Given the description of an element on the screen output the (x, y) to click on. 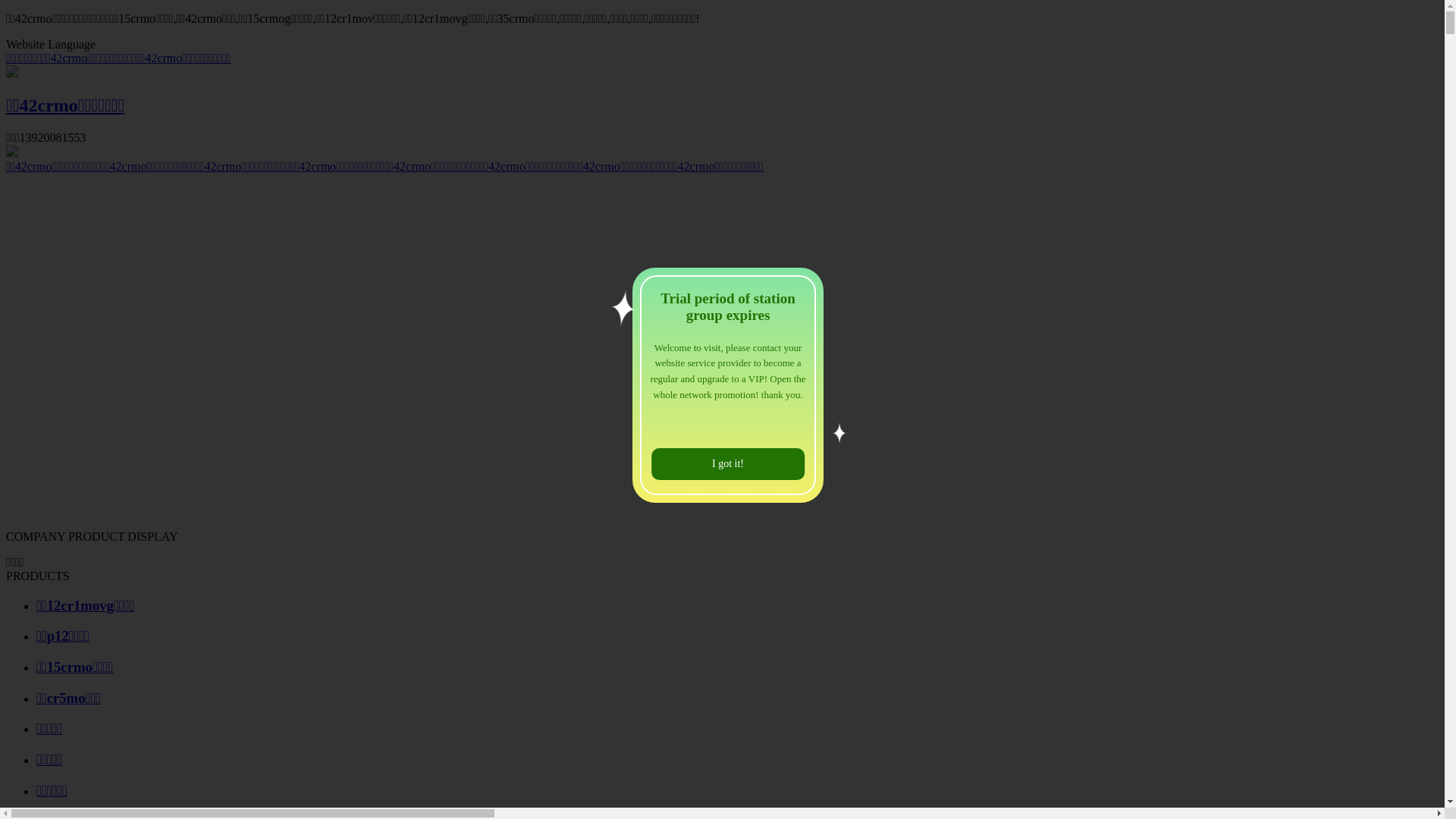
I got it! Element type: text (727, 464)
